Given the description of an element on the screen output the (x, y) to click on. 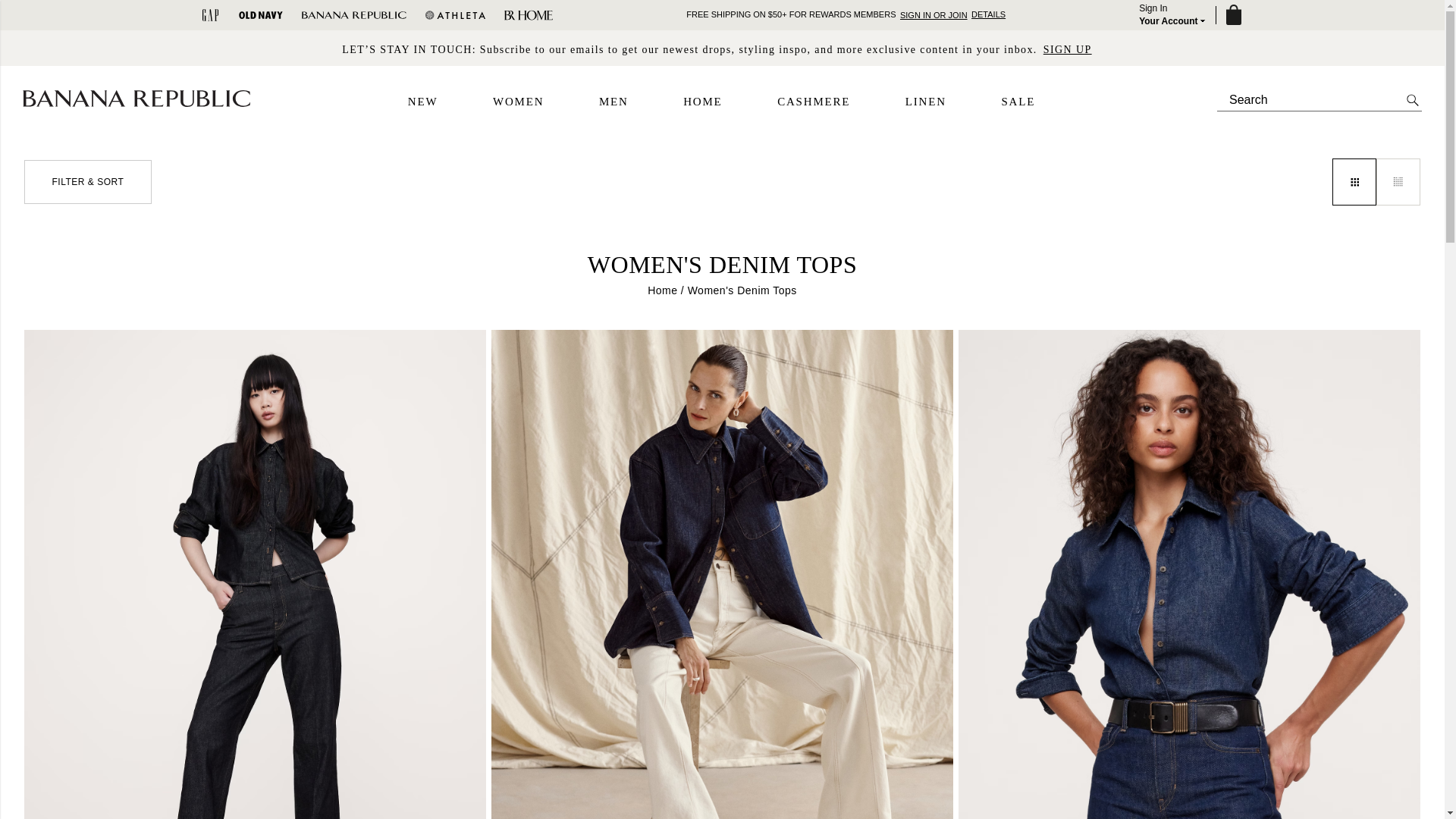
HOME (702, 101)
MEN (613, 101)
SALE (1018, 101)
DETAILS (1173, 15)
LINEN (988, 13)
SIGN UP (925, 101)
SIGN IN OR JOIN (1067, 49)
